Given the description of an element on the screen output the (x, y) to click on. 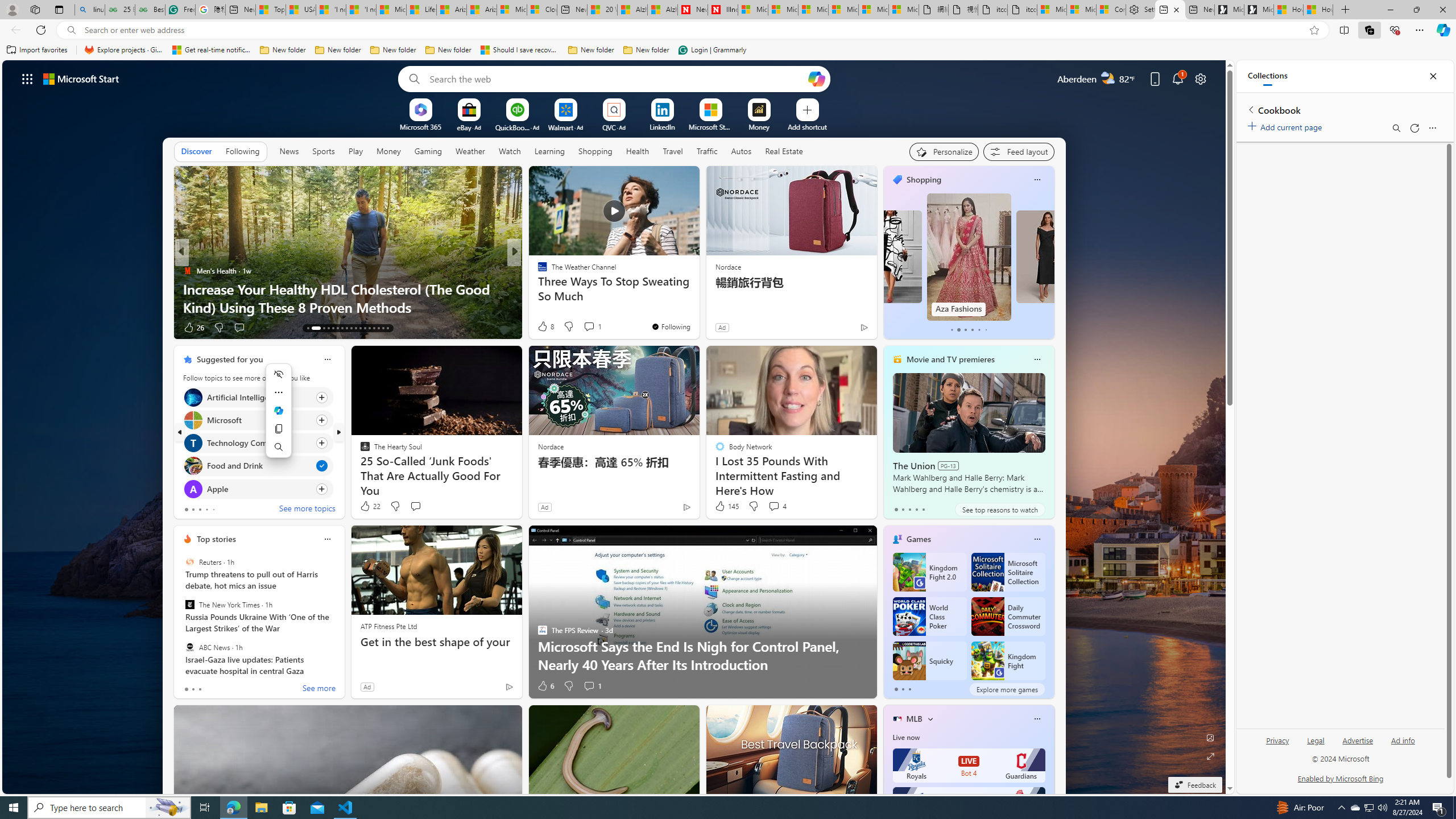
Artificial Intelligence (192, 397)
AutomationID: tab-23 (360, 328)
Copy (278, 428)
Illness news & latest pictures from Newsweek.com (722, 9)
View comments 7 Comment (589, 327)
Health (637, 151)
Class: sd-card-game-item-img-inner (987, 660)
View comments 2 Comment (588, 327)
tab-1 (903, 689)
Mini menu on text selection (278, 410)
Mini menu on text selection (277, 417)
tab-5 (986, 329)
AutomationID: tab-19 (342, 328)
AutomationID: tab-17 (332, 328)
